Given the description of an element on the screen output the (x, y) to click on. 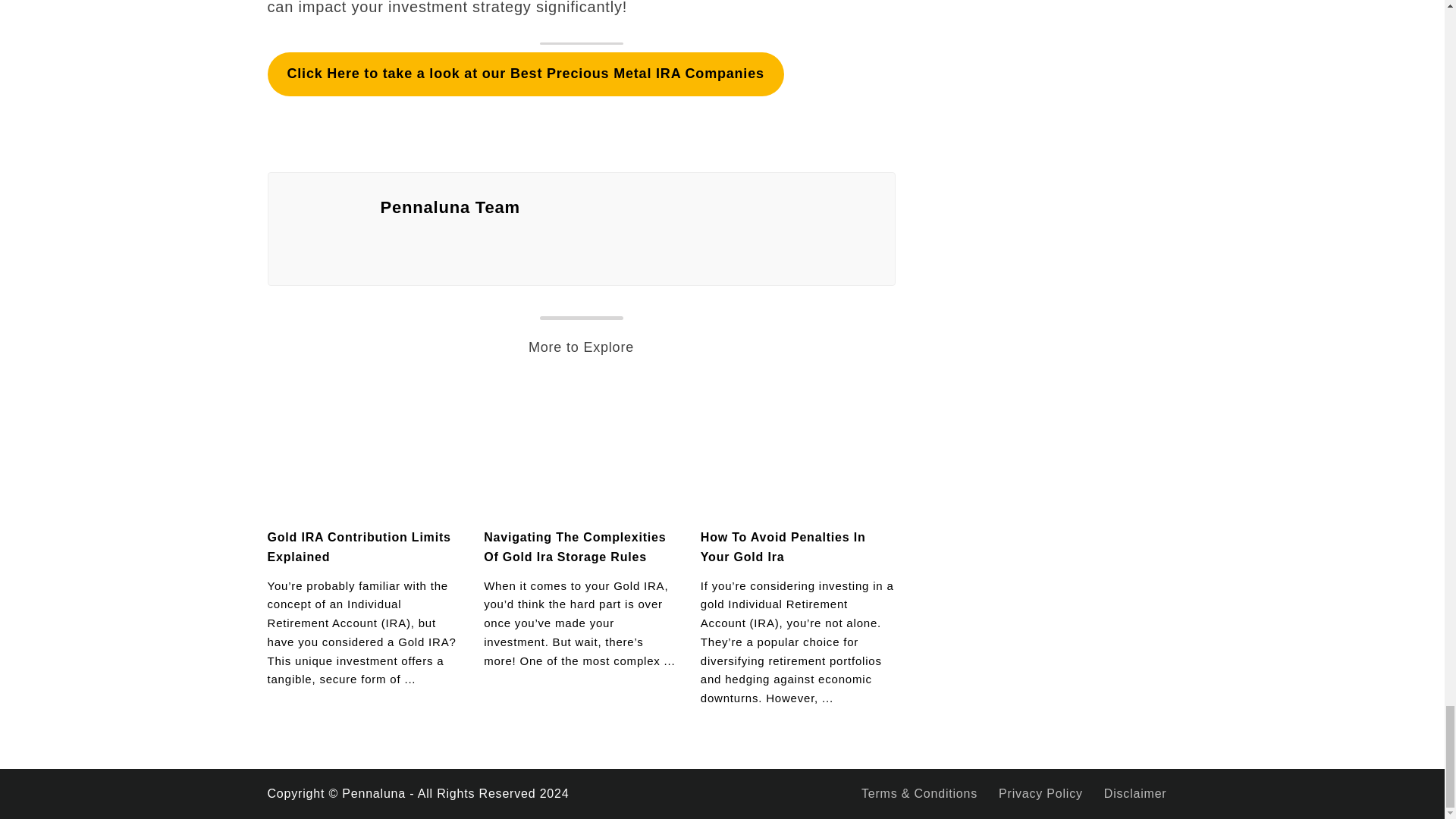
Pennaluna Team (628, 207)
link to Gold IRA Contribution Limits Explained (363, 449)
How To Avoid Penalties In Your Gold Ira (783, 546)
link to How To Avoid Penalties In Your Gold Ira (797, 449)
Navigating The Complexities Of Gold Ira Storage Rules (574, 546)
Gold IRA Contribution Limits Explained (357, 546)
